Given the description of an element on the screen output the (x, y) to click on. 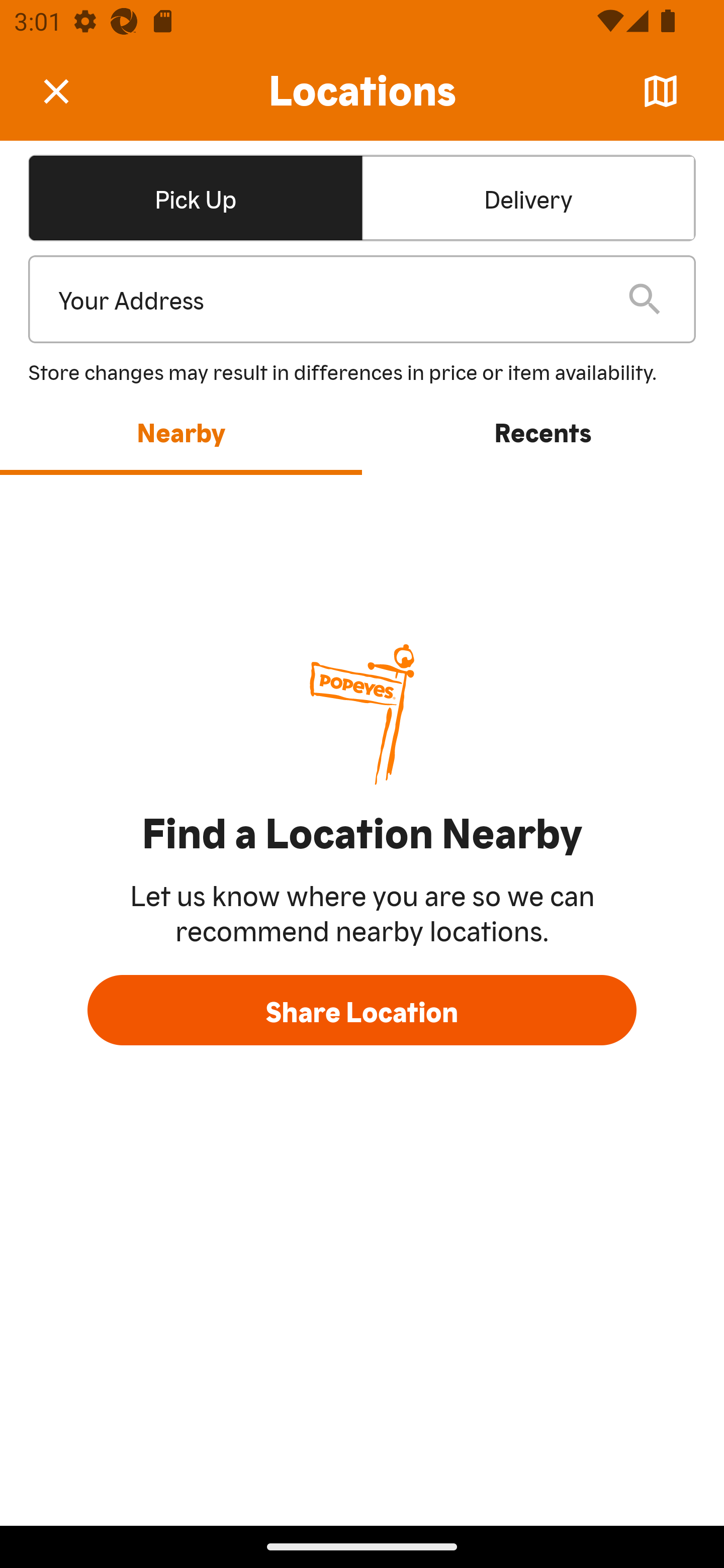
 (70, 90)
Map 󰦂 (660, 91)
Locations (362, 91)
Pick UpSelected Pick UpSelected Pick Up (195, 197)
Delivery Delivery Delivery (528, 197)
Your Address (327, 299)
Nearby (181, 430)
Recents (543, 430)
Share Location (361, 1010)
